Given the description of an element on the screen output the (x, y) to click on. 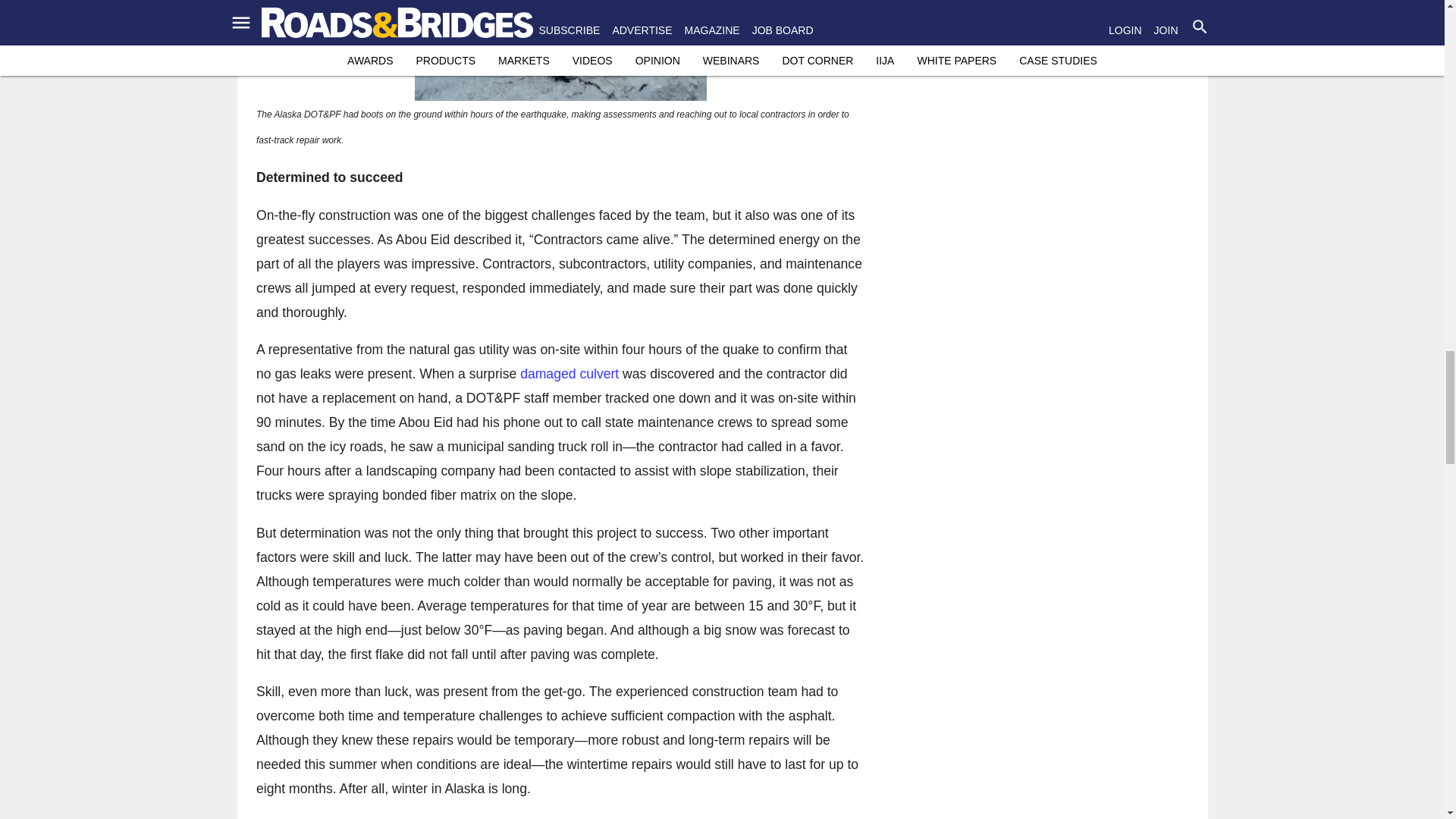
Nov-30-damage-2 (559, 50)
